Given the description of an element on the screen output the (x, y) to click on. 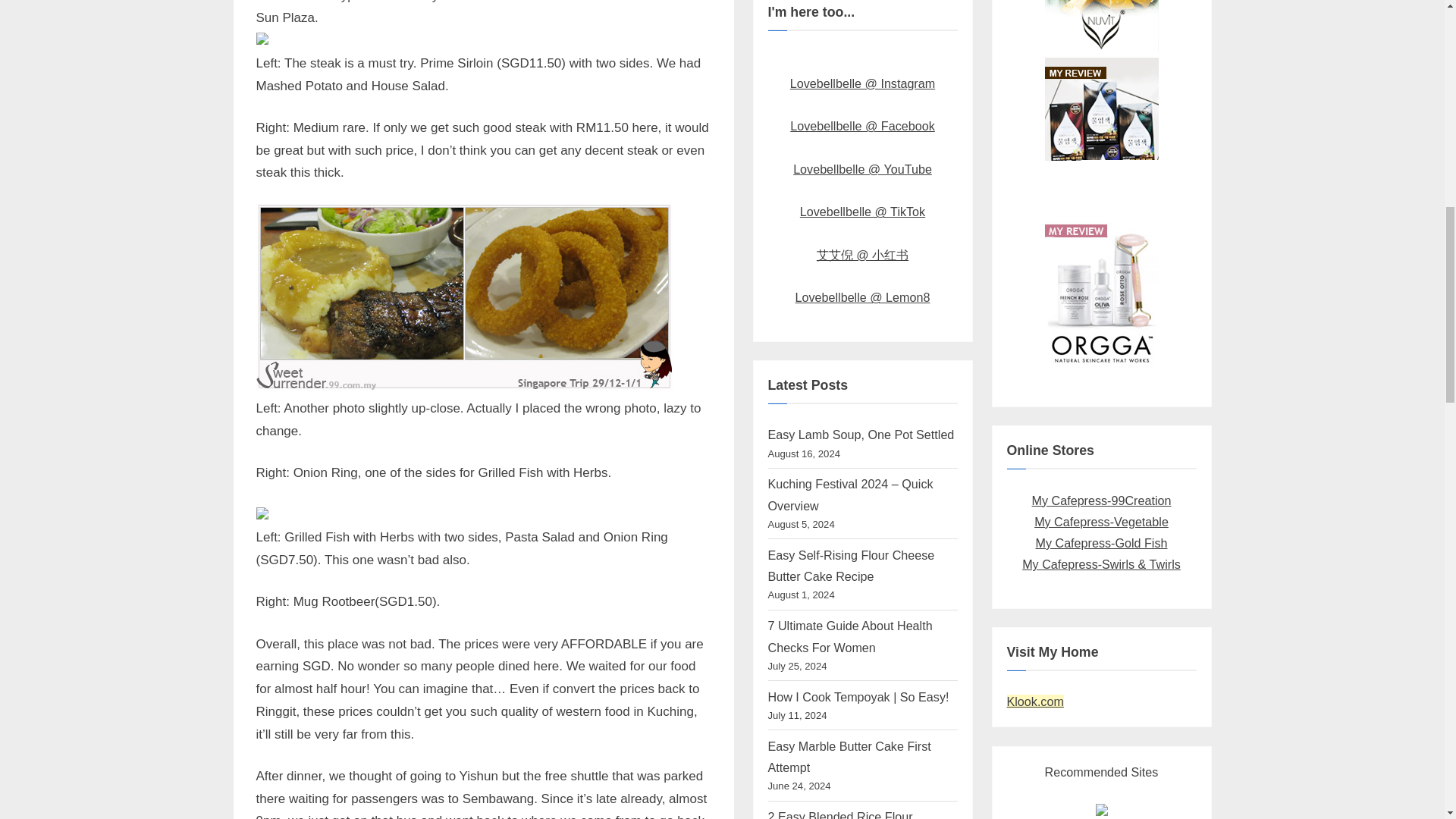
Easy Lamb Soup, One Pot Settled (860, 434)
Easy Self-Rising Flour Cheese Butter Cake Recipe (850, 565)
7 Ultimate Guide About Health Checks For Women (849, 636)
Easy Marble Butter Cake First Attempt (848, 756)
